Given the description of an element on the screen output the (x, y) to click on. 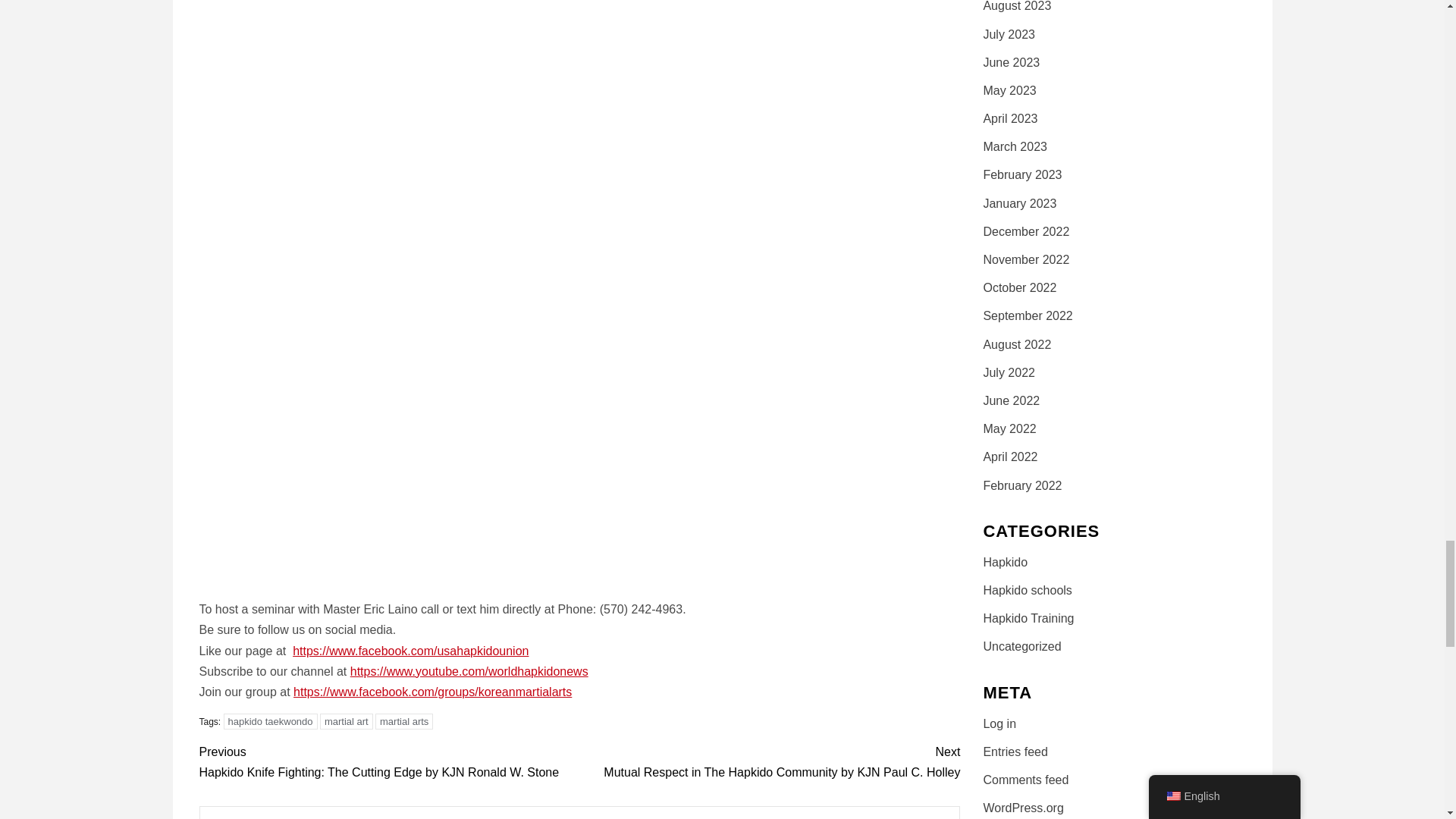
martial arts (403, 721)
martial art (346, 721)
hapkido taekwondo (270, 721)
